Given the description of an element on the screen output the (x, y) to click on. 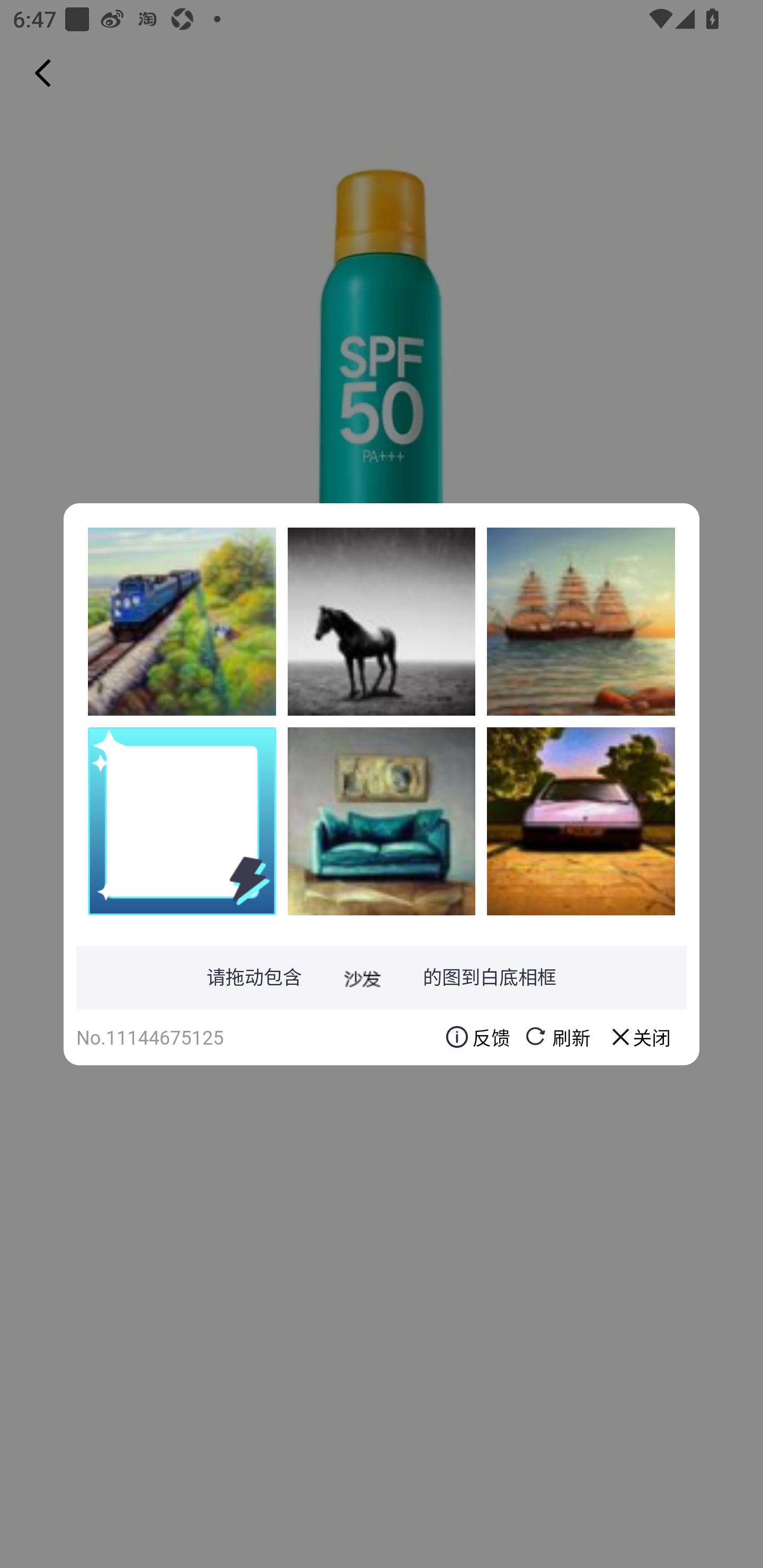
gCBkyzRRVnZcUck (181, 621)
UzX8LBLD8EY (381, 621)
cgDfoQBcEbUZPsiu7iCHRVSSBrr4Gmtxl9DUWozY (580, 621)
9mI1QstPEtjs1CDm+KRm+NQmJ0X+EyC73w (381, 820)
NHAjMmjMWrYUKgpyJJ1DggOcq (580, 820)
